Given the description of an element on the screen output the (x, y) to click on. 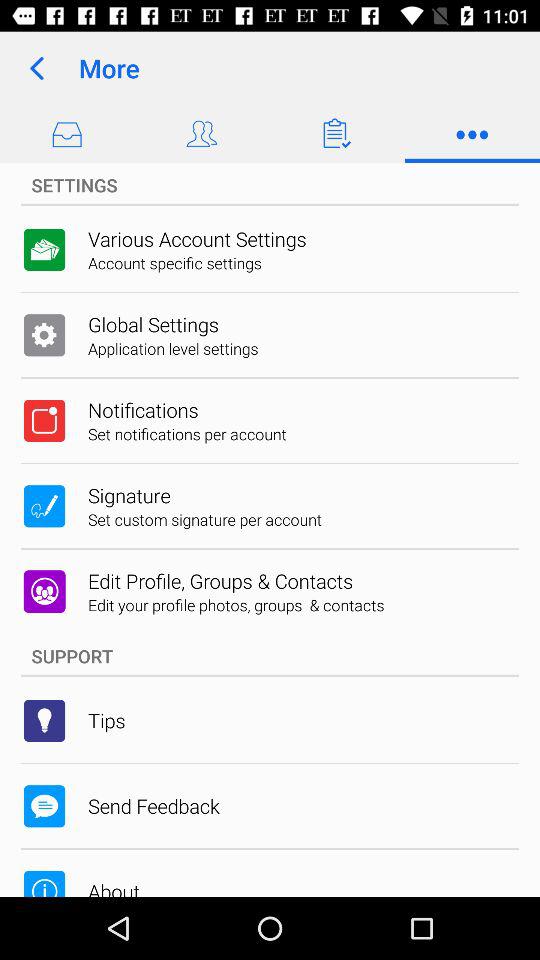
turn off the tips item (106, 720)
